Given the description of an element on the screen output the (x, y) to click on. 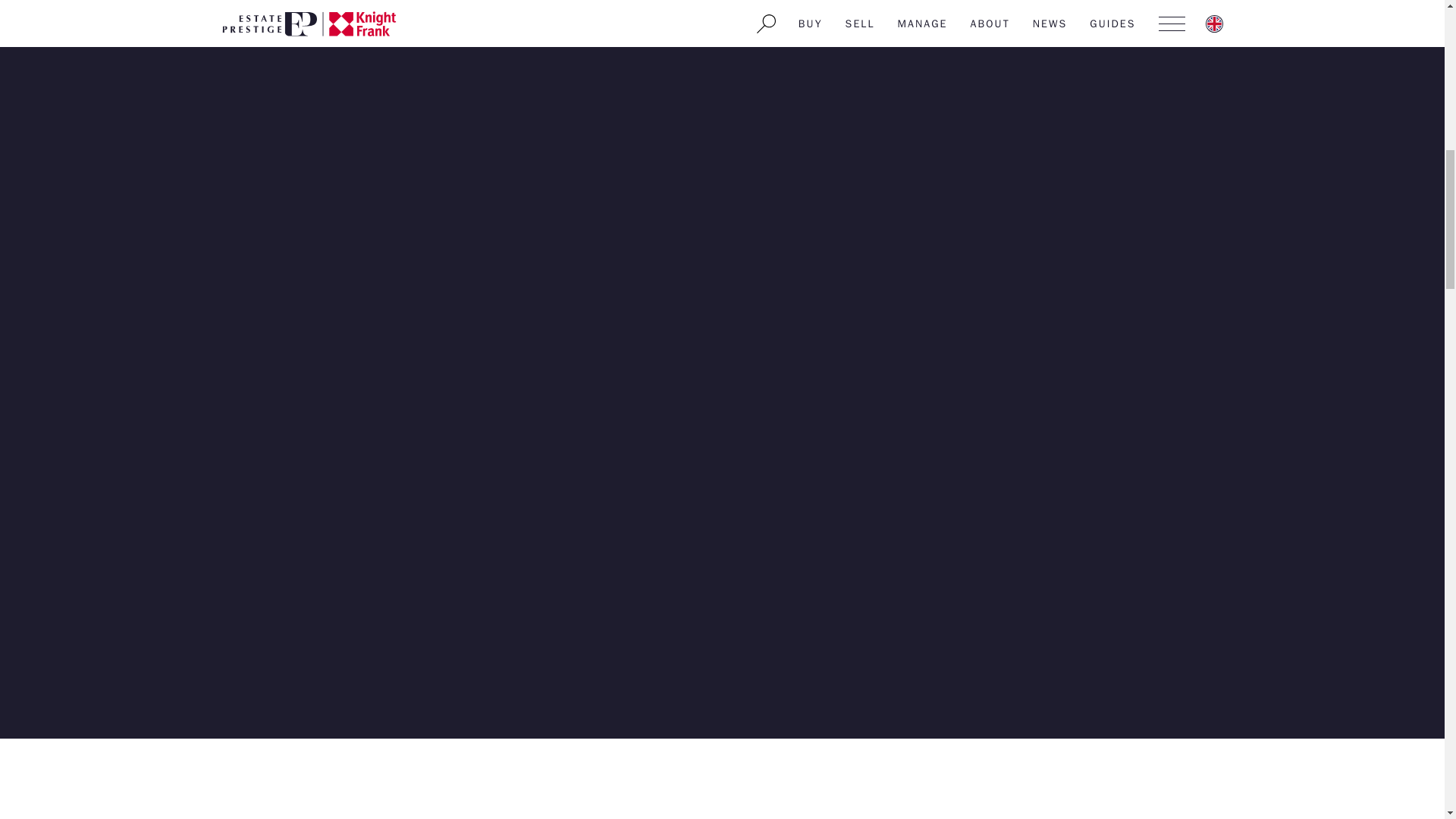
sportslife (302, 1)
penthouse (685, 1)
exclusivite (767, 1)
waterfront (386, 1)
contemporary (587, 1)
